Given the description of an element on the screen output the (x, y) to click on. 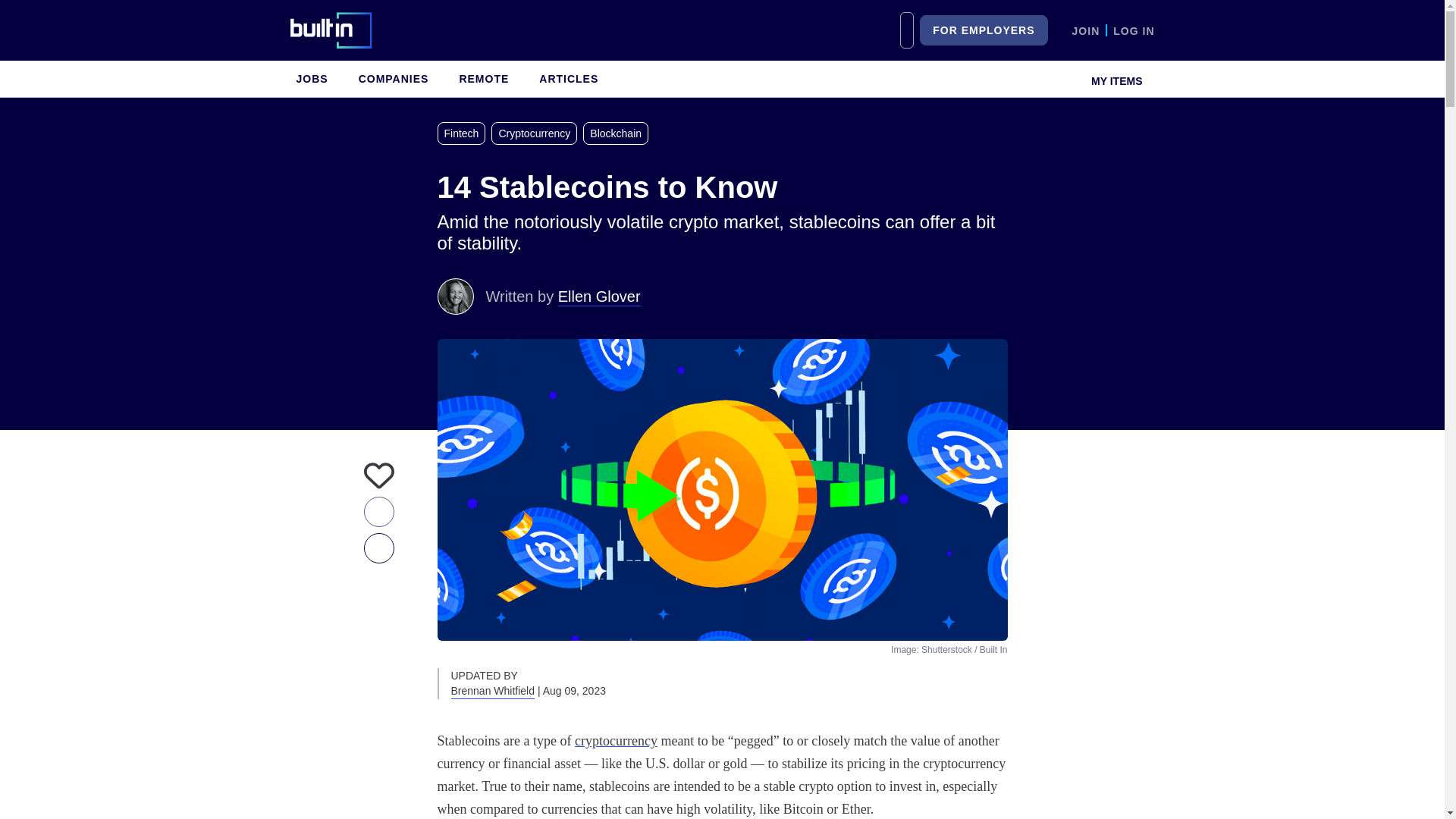
Ellen Glover (598, 295)
cryptocurrency (616, 740)
Ellen Glover (455, 296)
LOG IN (1133, 30)
JOIN (1085, 30)
Fintech (464, 133)
ARTICLES (568, 78)
Cryptocurrency (537, 133)
Blockchain (618, 133)
